Given the description of an element on the screen output the (x, y) to click on. 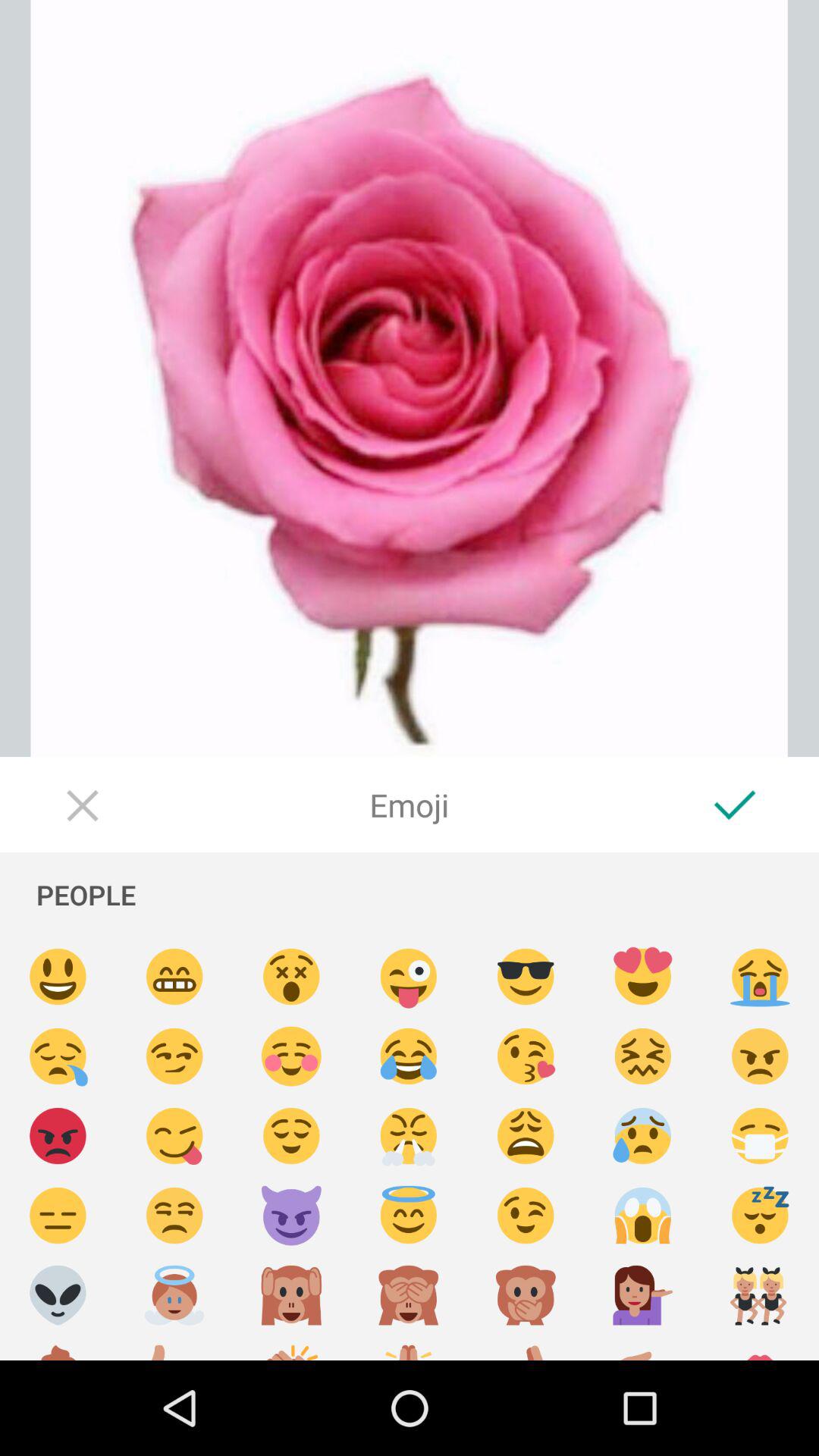
smile emoji (58, 976)
